Given the description of an element on the screen output the (x, y) to click on. 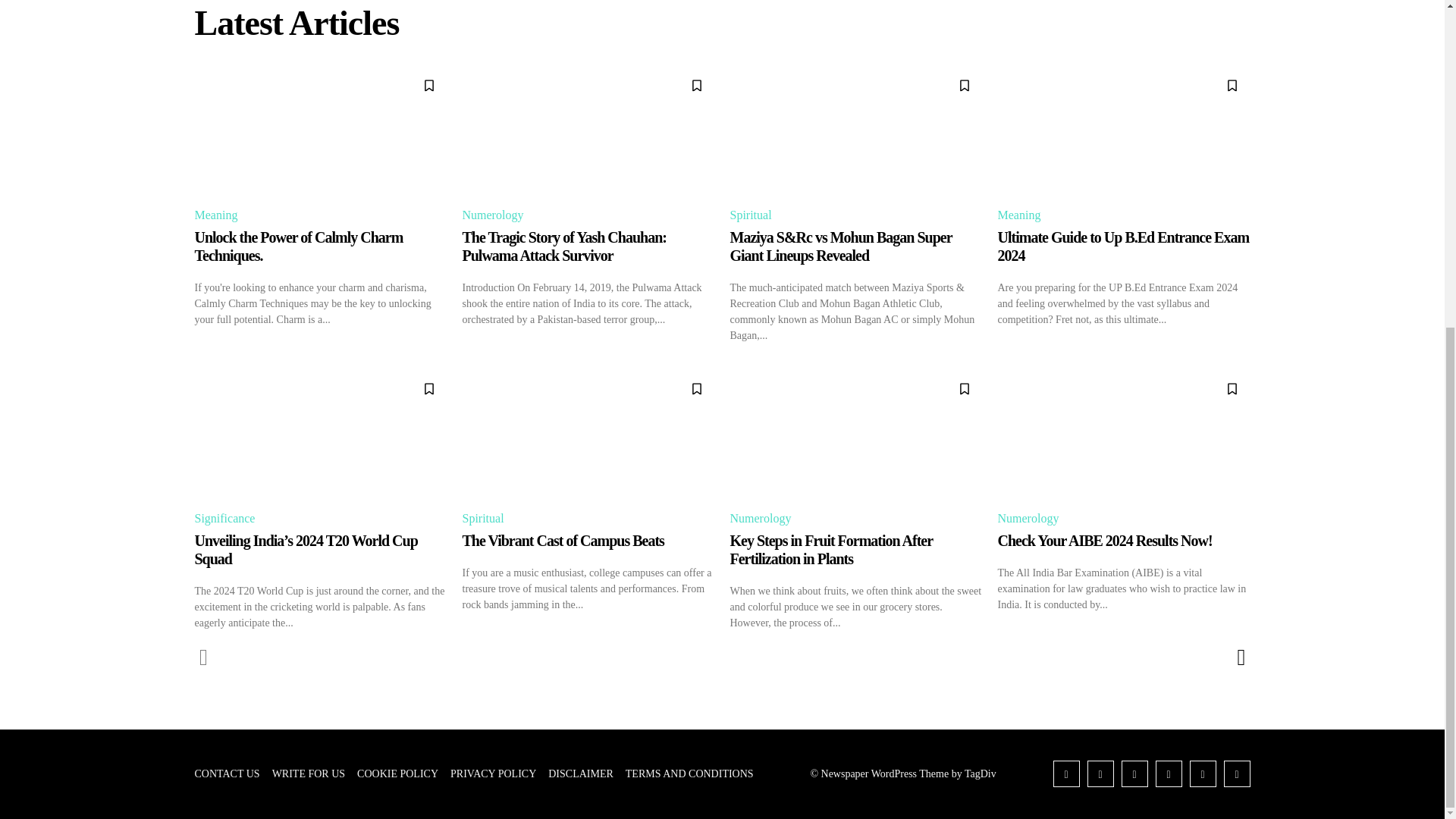
The Vibrant Cast of Campus Beats (588, 434)
Unlock the Power of Calmly Charm Techniques. (319, 130)
Meaning (217, 215)
The Tragic Story of Yash Chauhan: Pulwama Attack Survivor (564, 246)
Ultimate Guide to Up B.Ed Entrance Exam 2024 (1123, 246)
The Tragic Story of Yash Chauhan: Pulwama Attack Survivor (564, 246)
Numerology (495, 215)
Spiritual (752, 215)
Key Steps in Fruit Formation After Fertilization in Plants (855, 434)
The Tragic Story of Yash Chauhan: Pulwama Attack Survivor (588, 130)
